Given the description of an element on the screen output the (x, y) to click on. 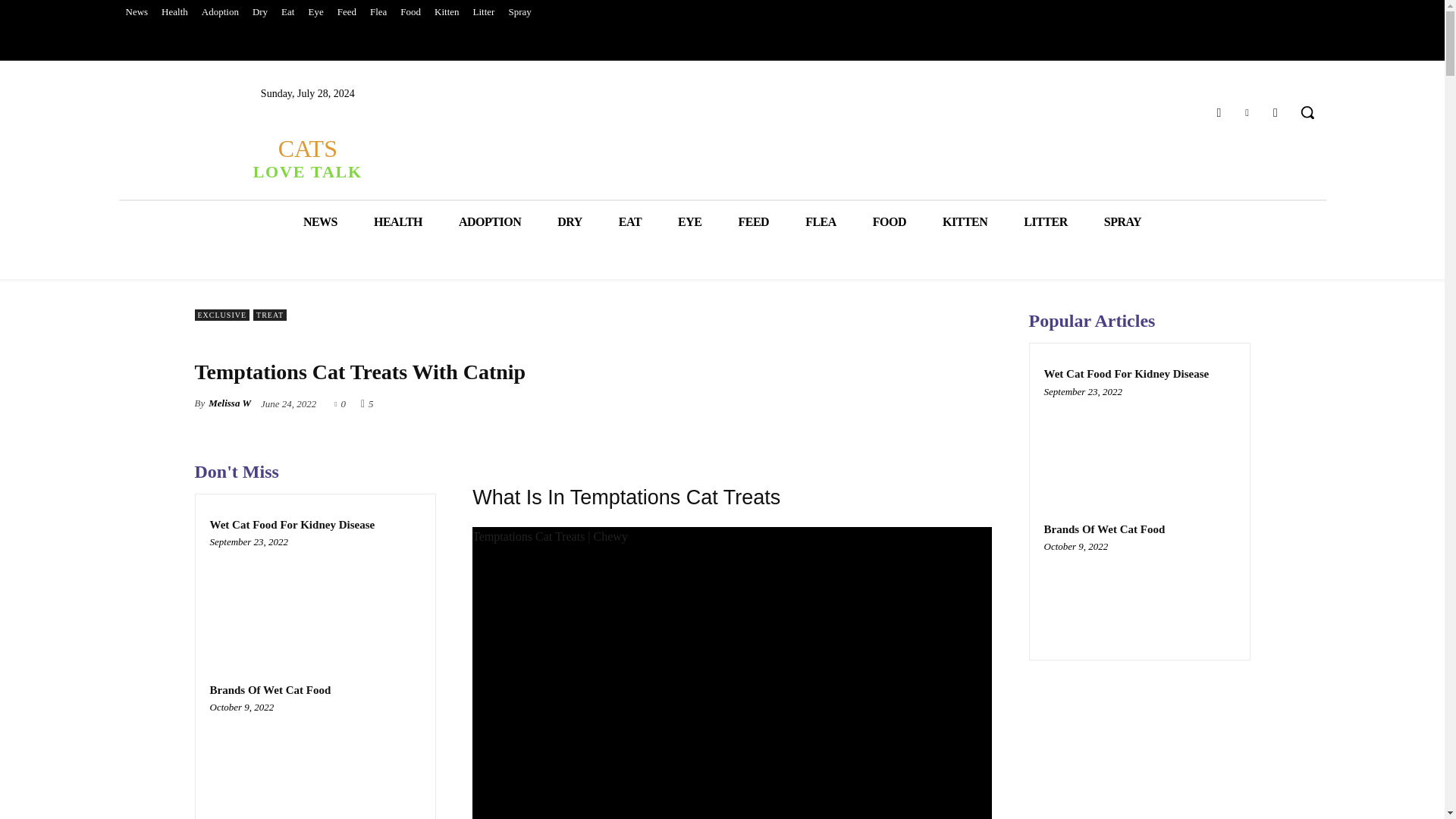
Spray (518, 12)
Kitten (446, 12)
Wet Cat Food For Kidney Disease (291, 524)
Feed (346, 12)
Brands Of Wet Cat Food (269, 689)
News (135, 12)
Youtube (1275, 112)
Twitter (1246, 112)
Wet Cat Food For Kidney Disease (314, 597)
Health (174, 12)
Facebook (306, 157)
Eye (1218, 112)
Brands Of Wet Cat Food (315, 12)
Adoption (314, 762)
